Given the description of an element on the screen output the (x, y) to click on. 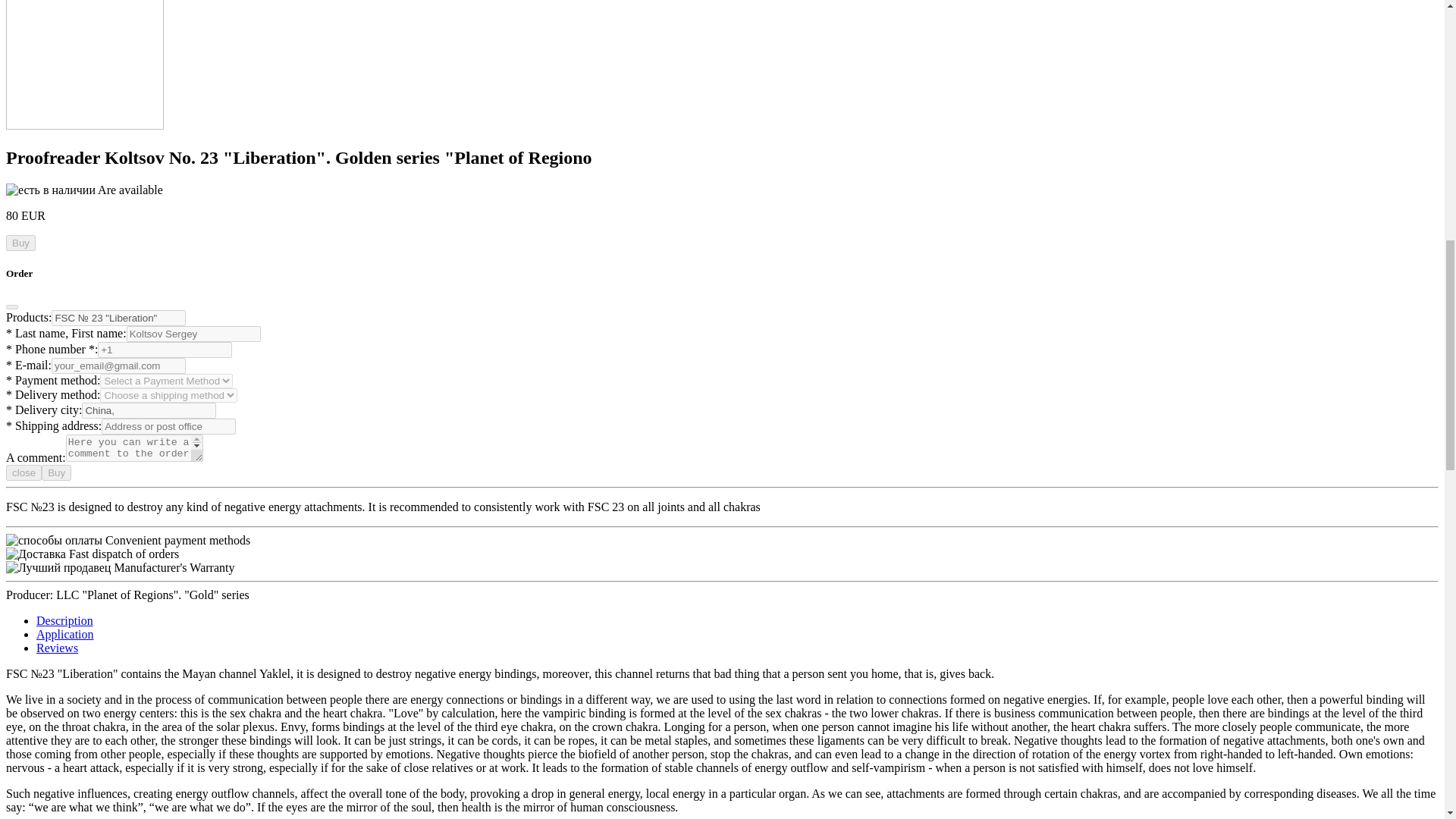
China,  (148, 410)
